Given the description of an element on the screen output the (x, y) to click on. 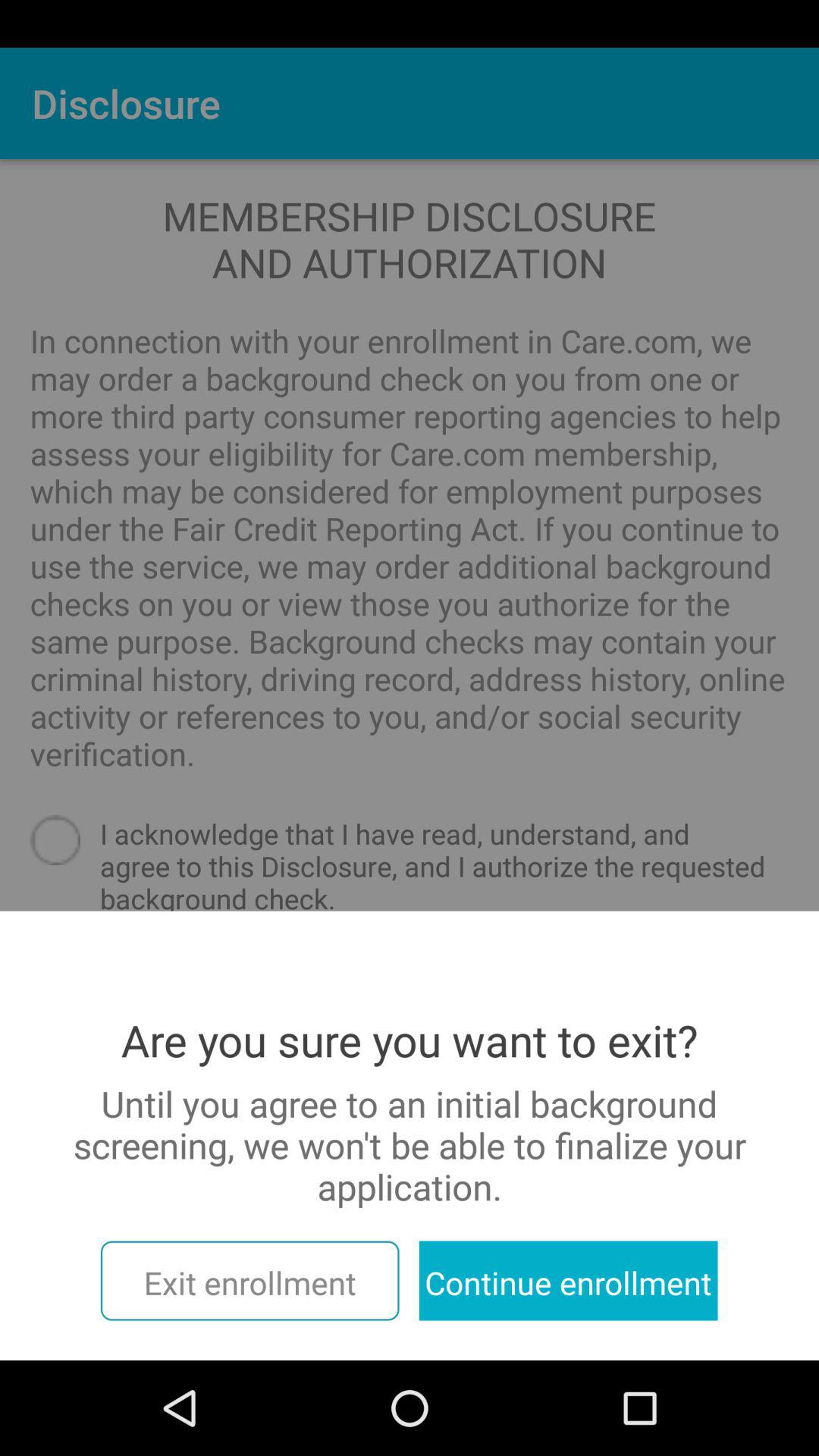
turn off exit enrollment item (249, 1280)
